Given the description of an element on the screen output the (x, y) to click on. 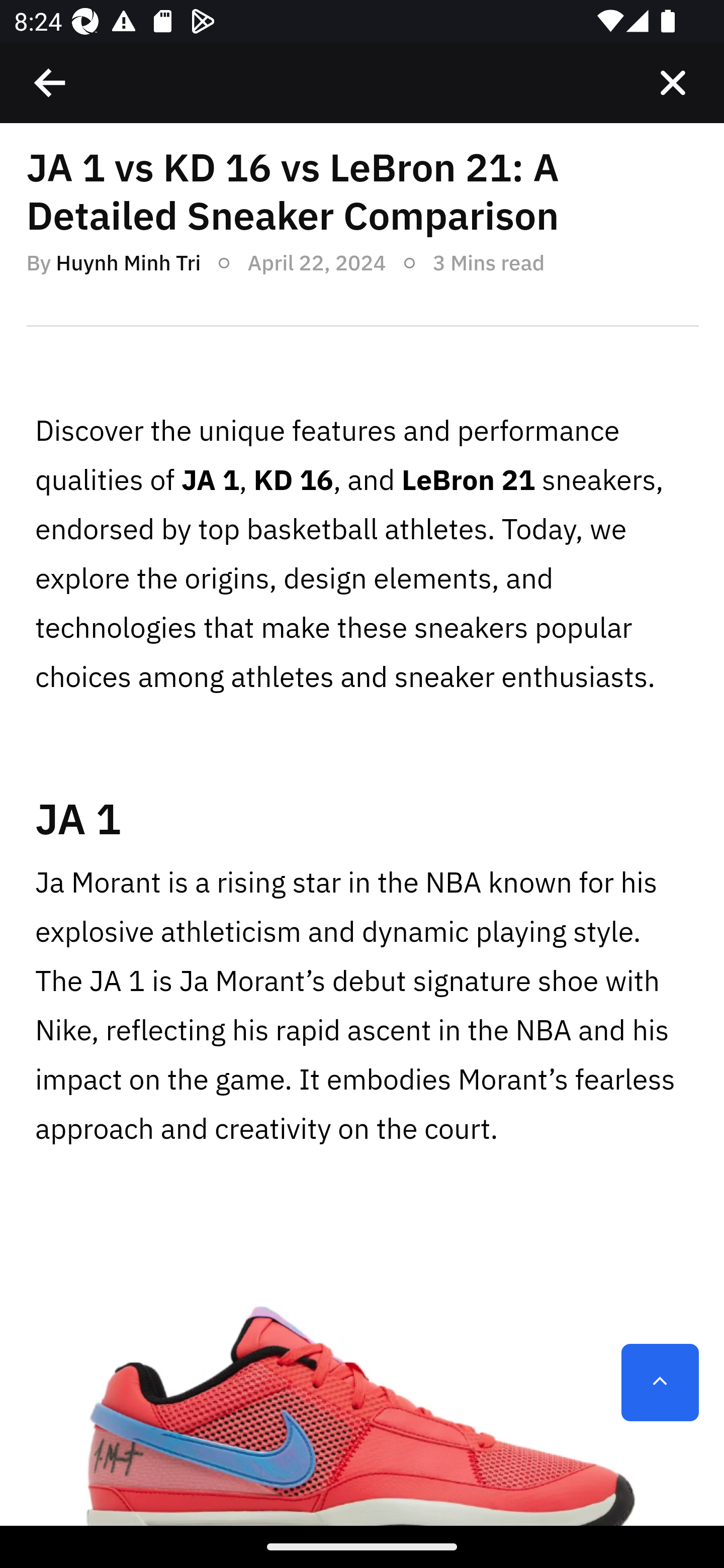
 (50, 83)
 (672, 83)
Huynh Minh Tri (127, 262)
Nike Ja 1 EP 'Fuel' DR8786‑800 (361, 1371)
Scroll to top  (659, 1382)
